Given the description of an element on the screen output the (x, y) to click on. 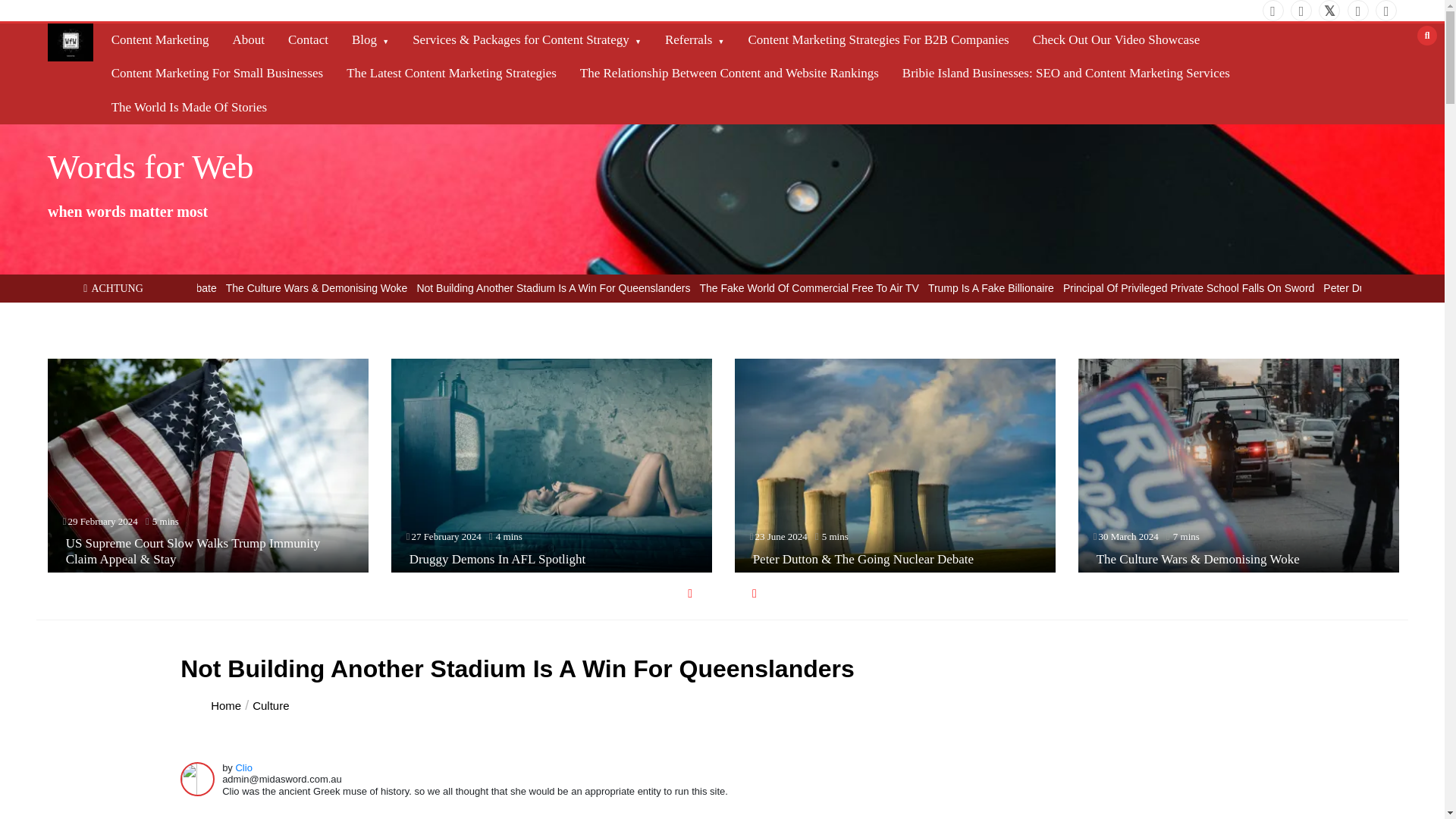
Contact (308, 39)
About (248, 39)
Content Marketing For Small Businesses (217, 73)
Check Out Our Video Showcase (1116, 39)
Blog (370, 39)
The Relationship Between Content and Website Rankings (729, 73)
Blog (370, 39)
Content Marketing Strategies For B2B Companies (877, 39)
Contact (308, 39)
Content Marketing (159, 39)
Referrals (694, 39)
About (248, 39)
Bribie Island Businesses: SEO and Content Marketing Services (1066, 73)
The Latest Content Marketing Strategies (451, 73)
The World Is Made Of Stories (188, 107)
